Given the description of an element on the screen output the (x, y) to click on. 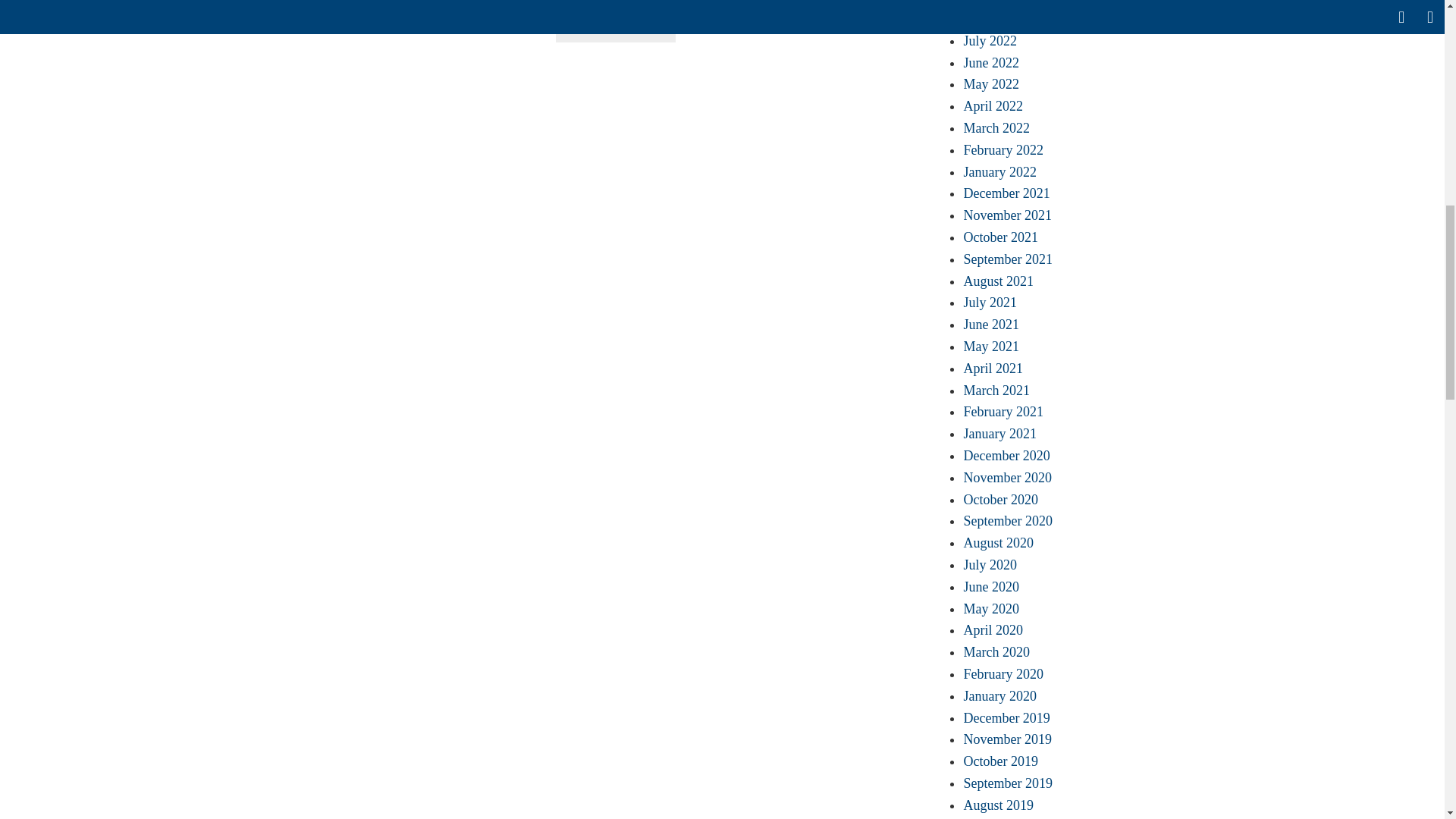
Load More (615, 21)
September 2022 (1006, 2)
August 2022 (997, 18)
